Given the description of an element on the screen output the (x, y) to click on. 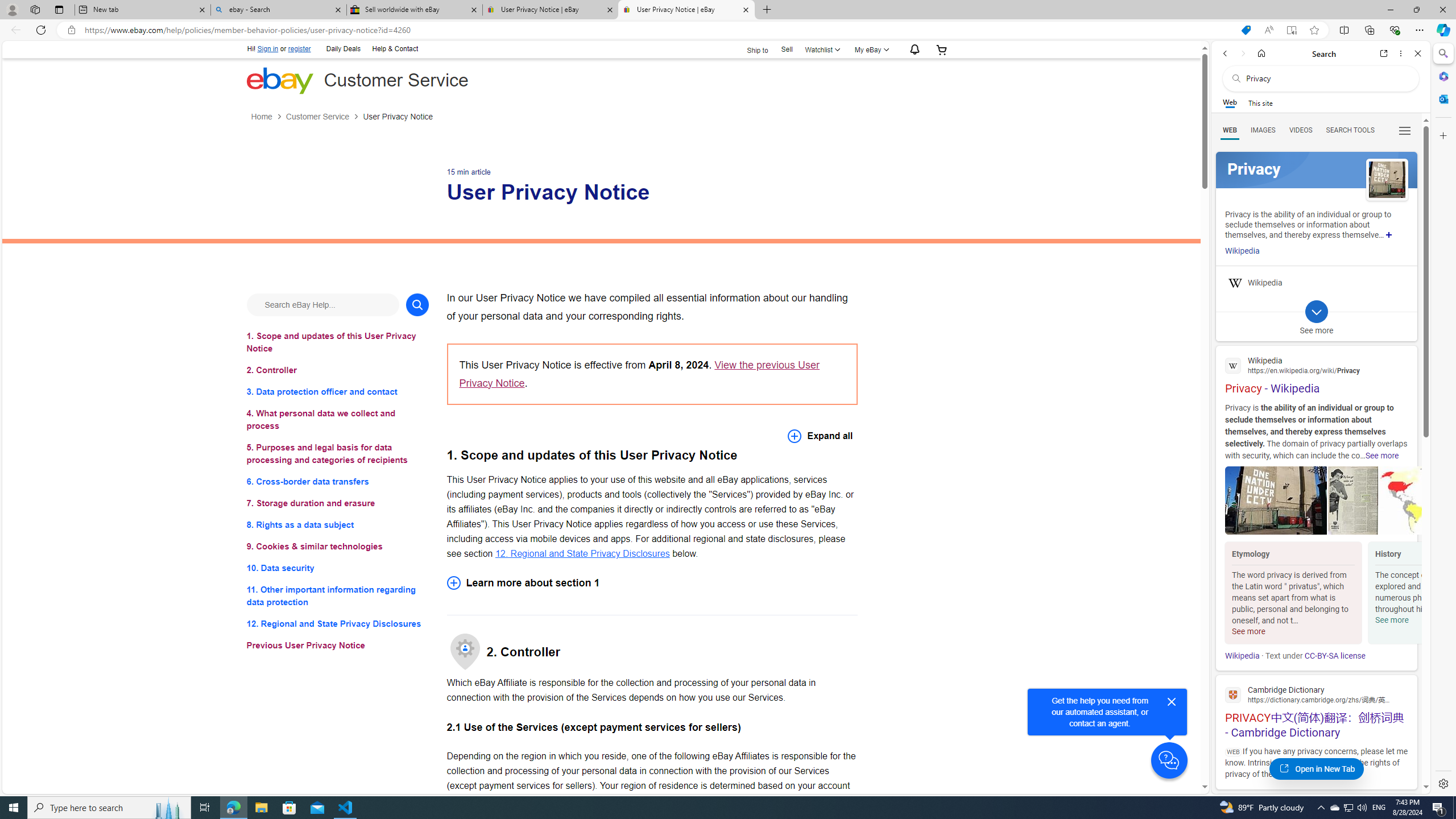
See more images of Privacy (1386, 179)
9. Cookies & similar technologies (337, 546)
VIDEOS (1300, 130)
Outlook (1442, 98)
Sell (786, 49)
Sell worldwide with eBay (414, 9)
Search Filter, WEB (1230, 129)
1. Scope and updates of this User Privacy Notice (337, 341)
Wikipedia (1241, 655)
Search Filter, VIDEOS (1300, 129)
Settings (1442, 783)
